Given the description of an element on the screen output the (x, y) to click on. 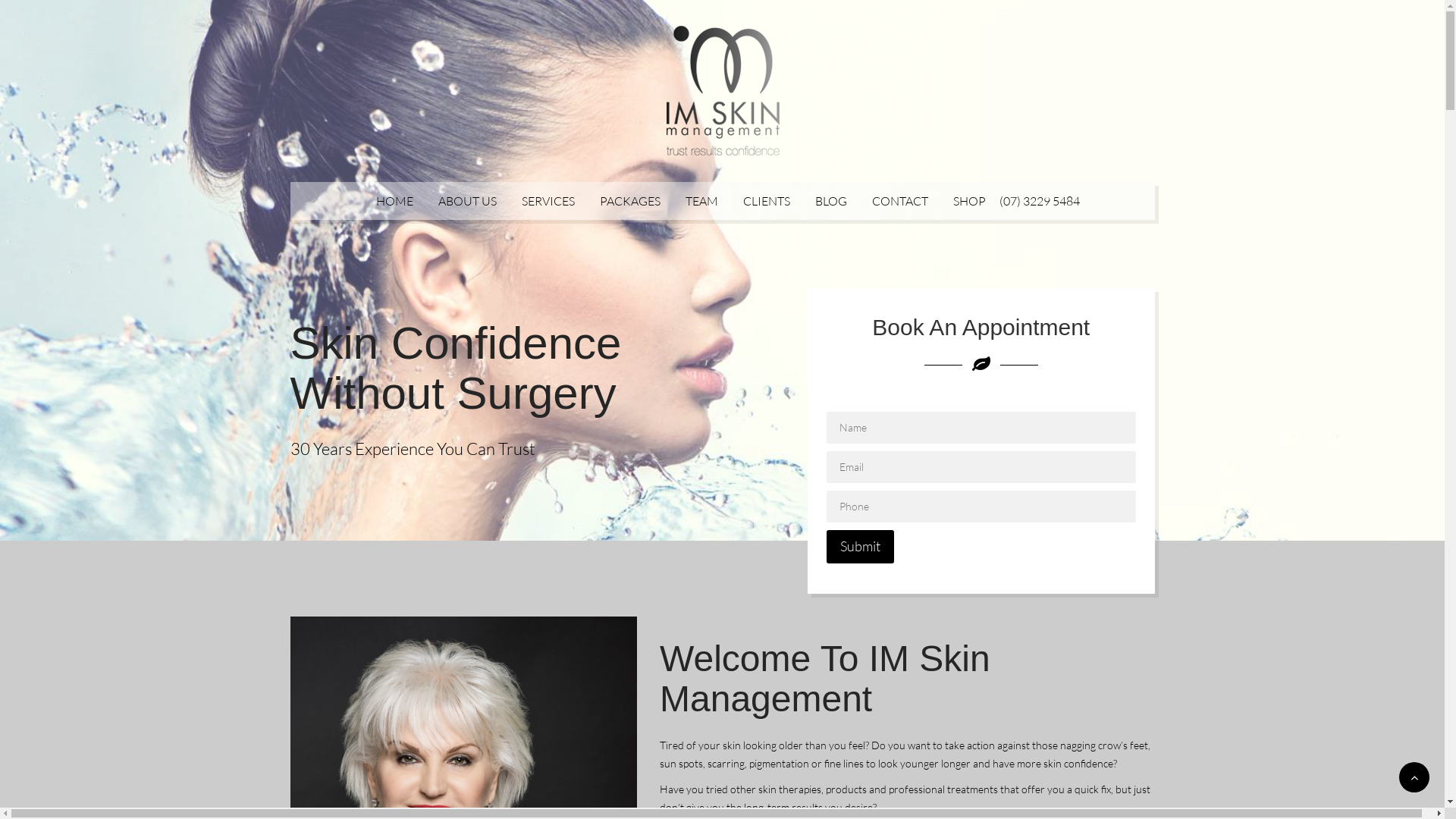
ABOUT US Element type: text (467, 200)
TEAM Element type: text (701, 200)
SHOP Element type: text (969, 200)
CLIENTS Element type: text (766, 200)
Submit Element type: text (860, 546)
SERVICES Element type: text (548, 200)
BLOG Element type: text (830, 200)
HOME Element type: text (394, 200)
CONTACT Element type: text (899, 200)
PACKAGES Element type: text (629, 200)
